Given the description of an element on the screen output the (x, y) to click on. 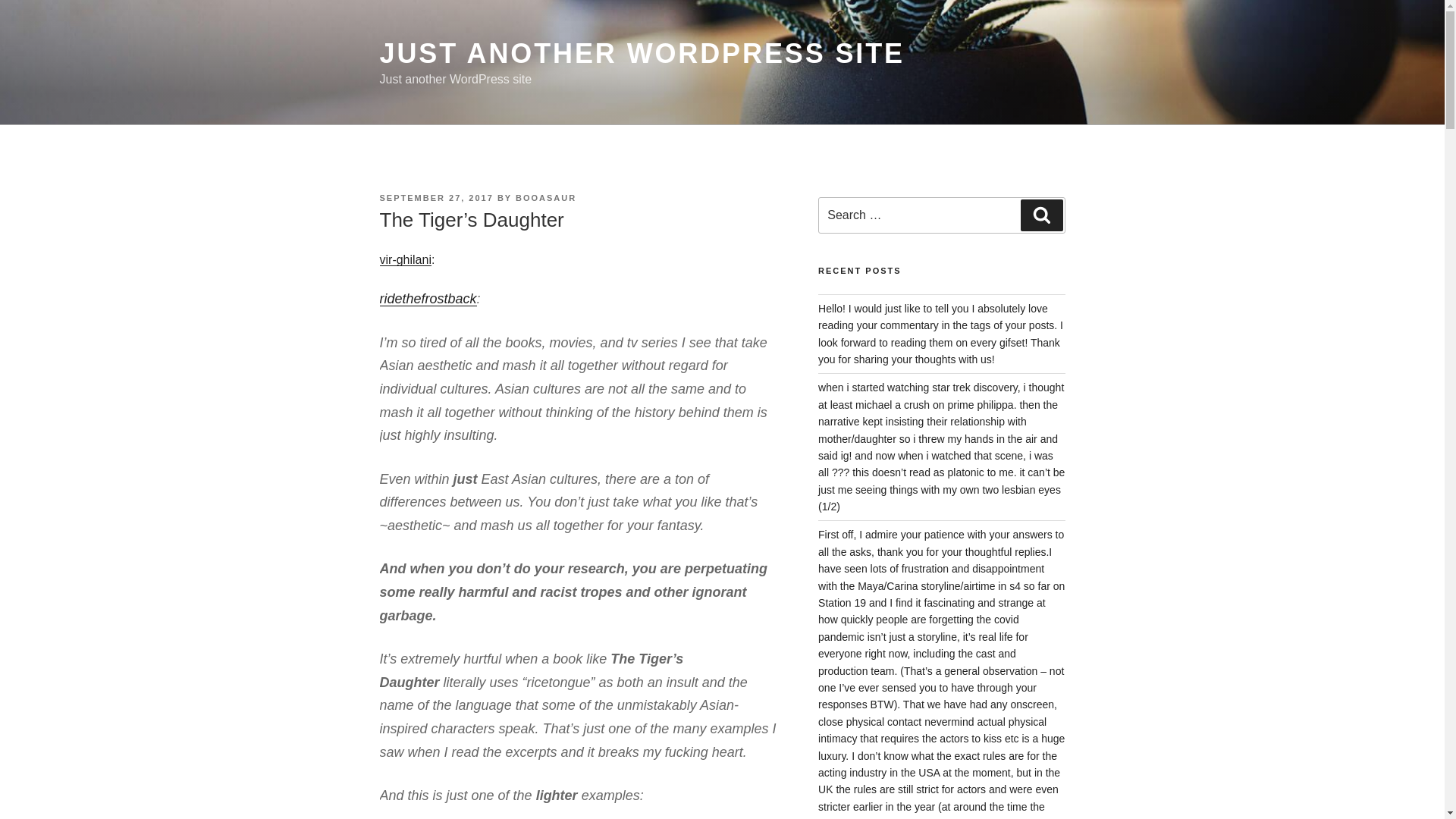
ridethefrostback (427, 298)
vir-ghilani (404, 259)
SEPTEMBER 27, 2017 (435, 197)
BOOASAUR (545, 197)
Search (1041, 214)
JUST ANOTHER WORDPRESS SITE (641, 52)
